Given the description of an element on the screen output the (x, y) to click on. 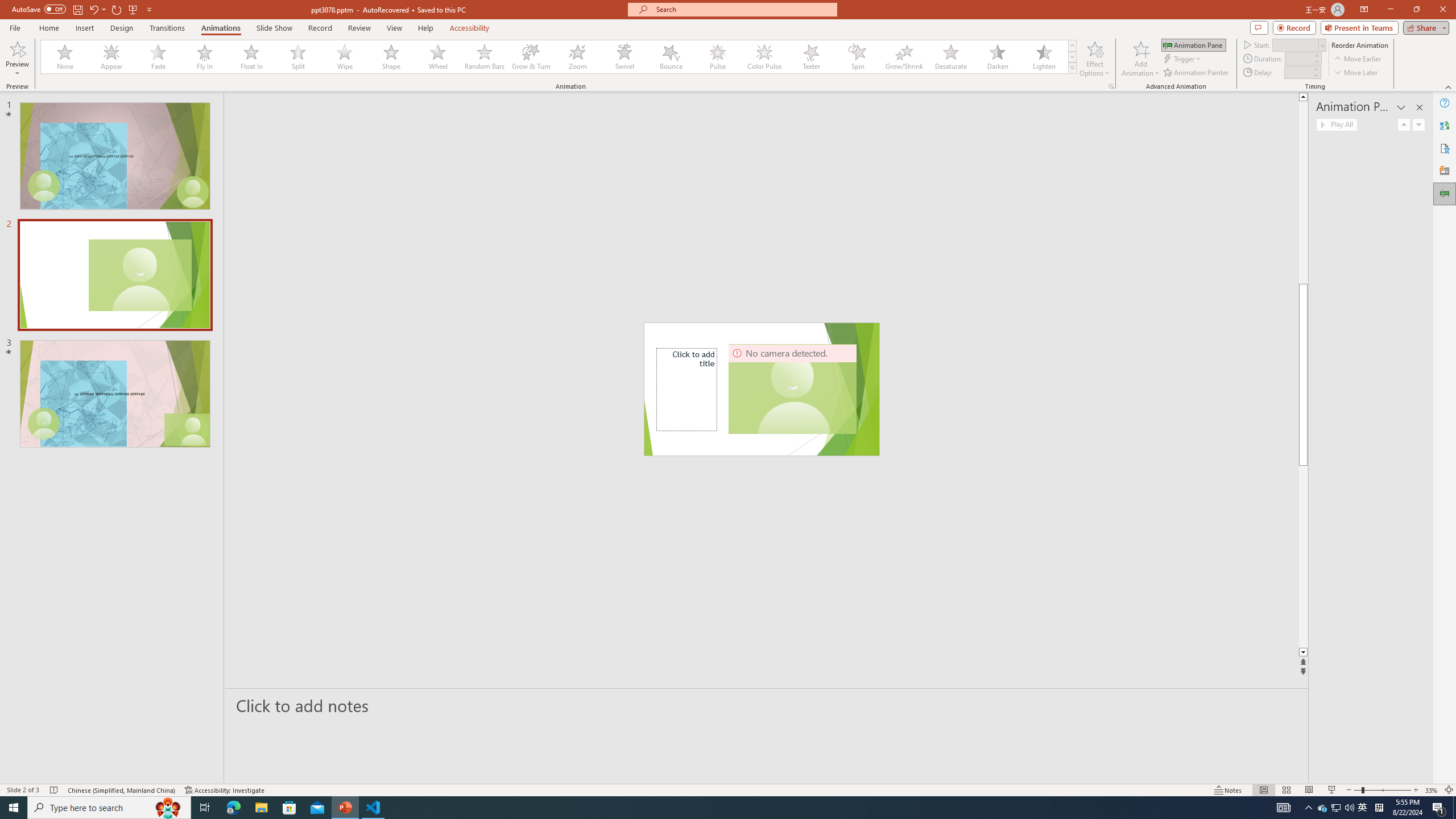
Fade (158, 56)
Camera 3, No camera detected. (792, 388)
Pulse (717, 56)
Play All (1336, 124)
Animation Painter (1196, 72)
